Given the description of an element on the screen output the (x, y) to click on. 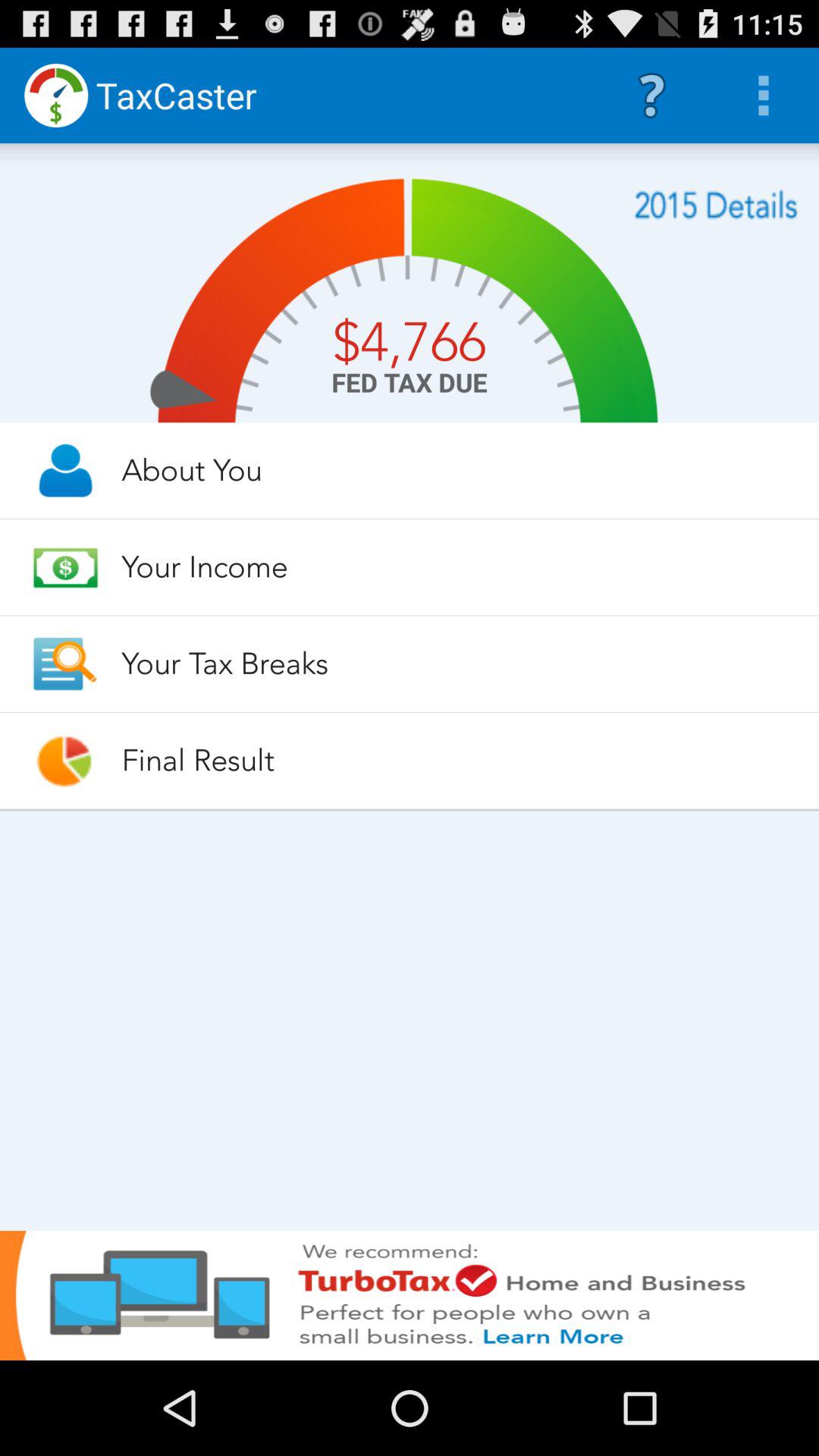
click icon above the your tax breaks app (456, 566)
